Given the description of an element on the screen output the (x, y) to click on. 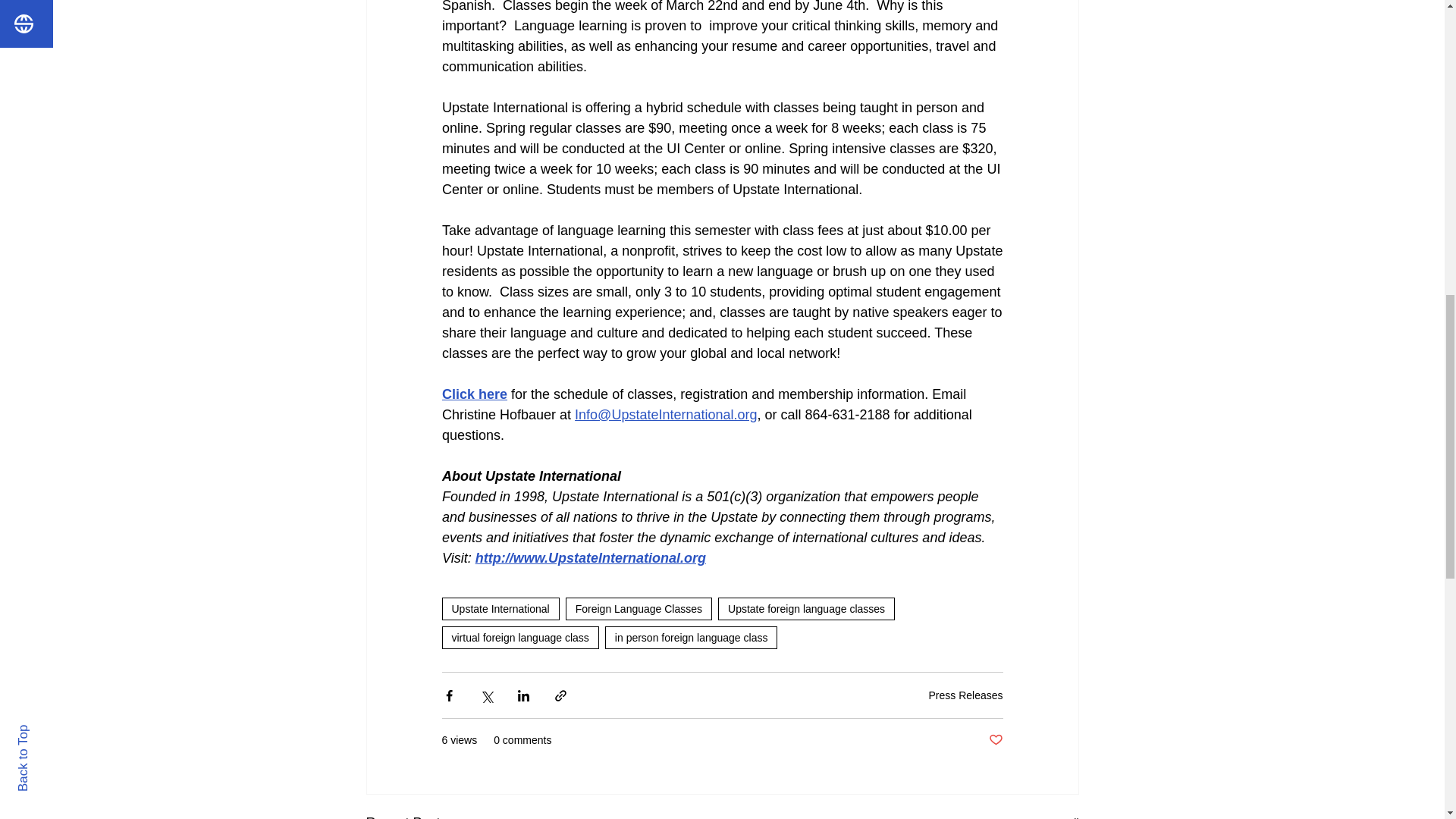
Foreign Language Classes (638, 608)
Upstate International (500, 608)
Click here (473, 394)
in person foreign language class (691, 637)
virtual foreign language class (519, 637)
Post not marked as liked (995, 740)
Press Releases (965, 694)
Upstate foreign language classes (806, 608)
See All (1061, 815)
